Given the description of an element on the screen output the (x, y) to click on. 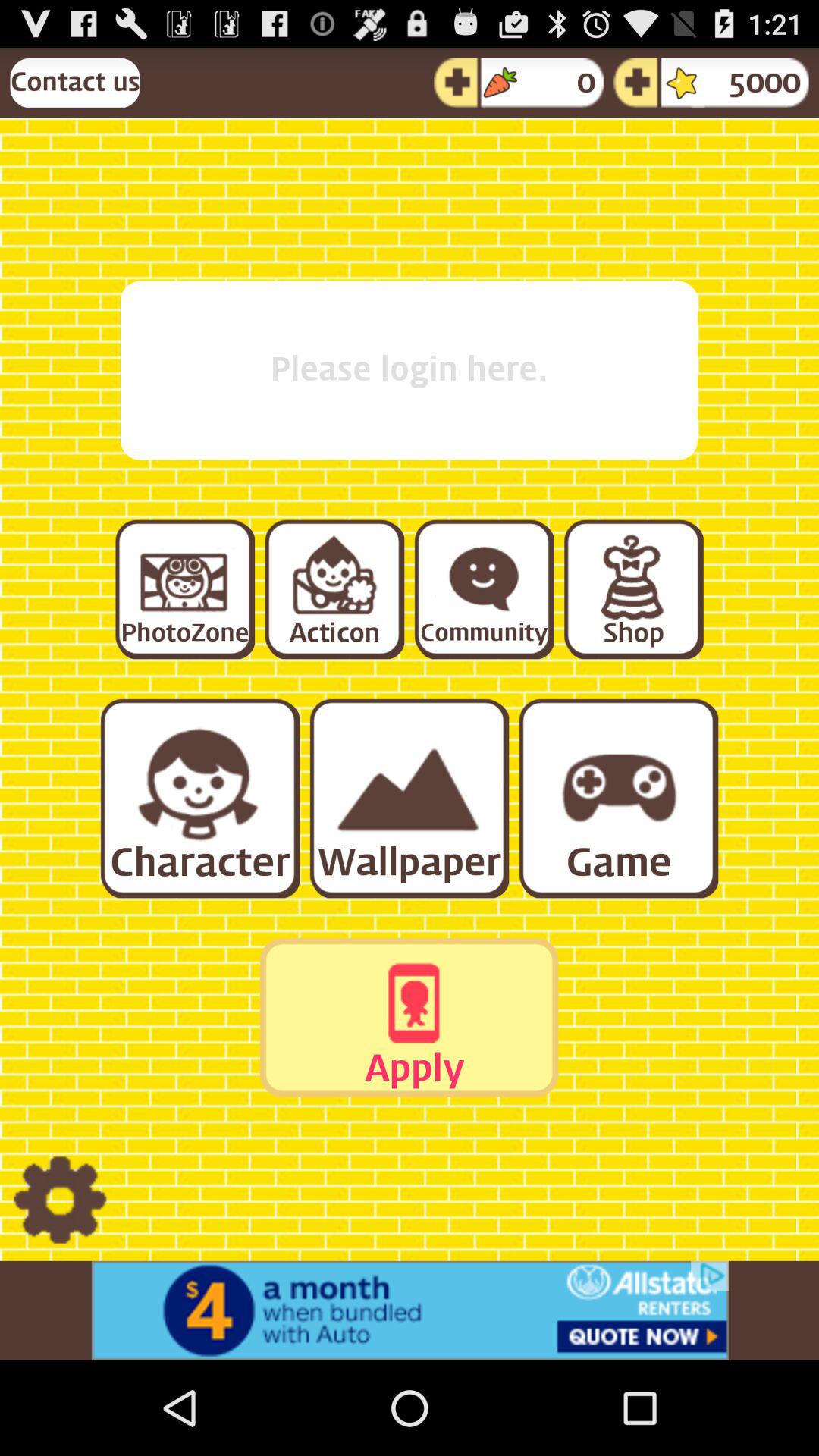
open character selection (199, 797)
